Given the description of an element on the screen output the (x, y) to click on. 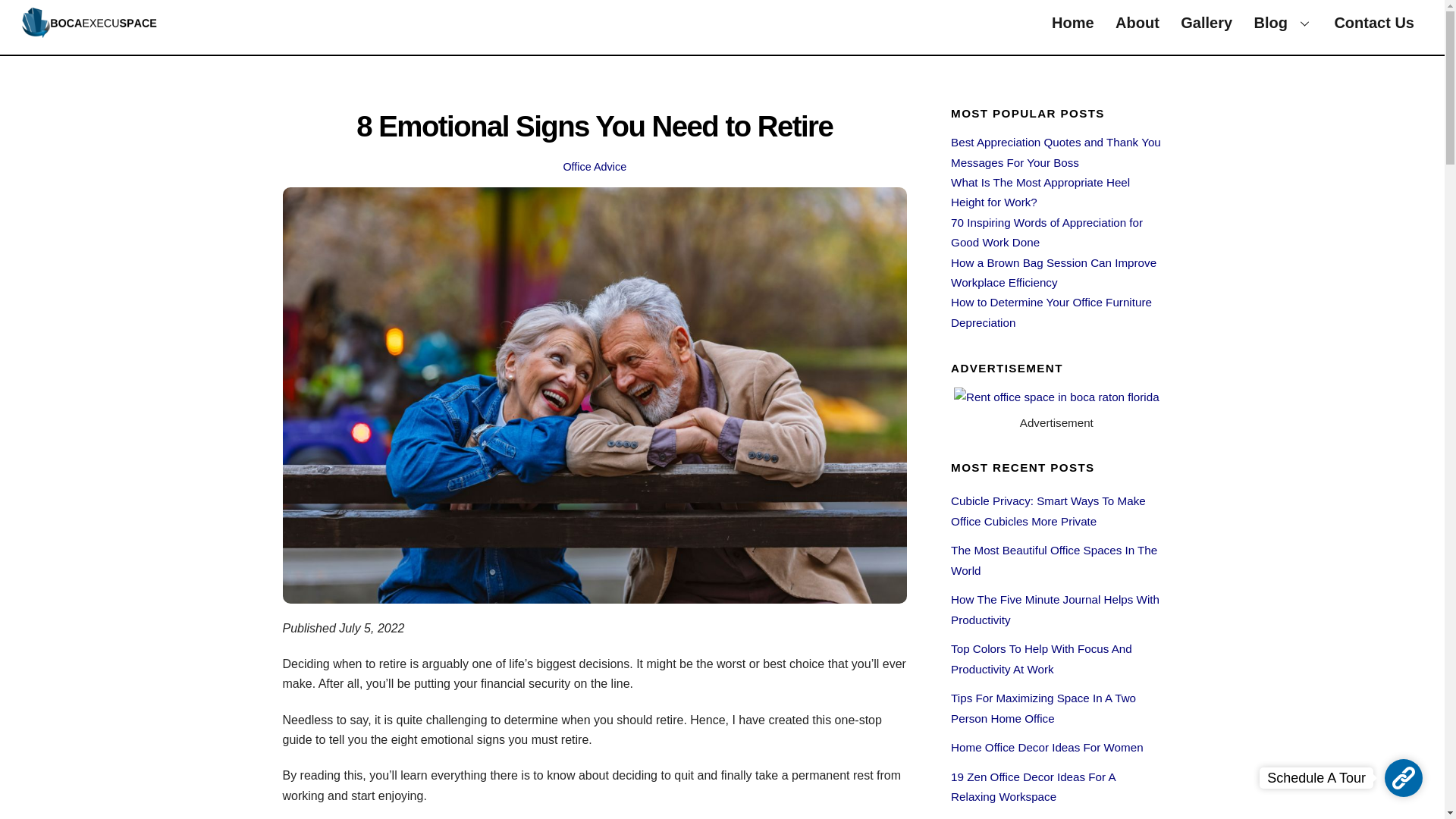
70 Inspiring Words of Appreciation for Good Work Done (1046, 232)
Office Advice (594, 166)
Contact Us (1373, 22)
What Is The Most Appropriate Heel Height for Work? (1039, 192)
Blog (1283, 22)
How a Brown Bag Session Can Improve Workplace Efficiency (1053, 272)
How to Determine Your Office Furniture Depreciation (722, 22)
